Given the description of an element on the screen output the (x, y) to click on. 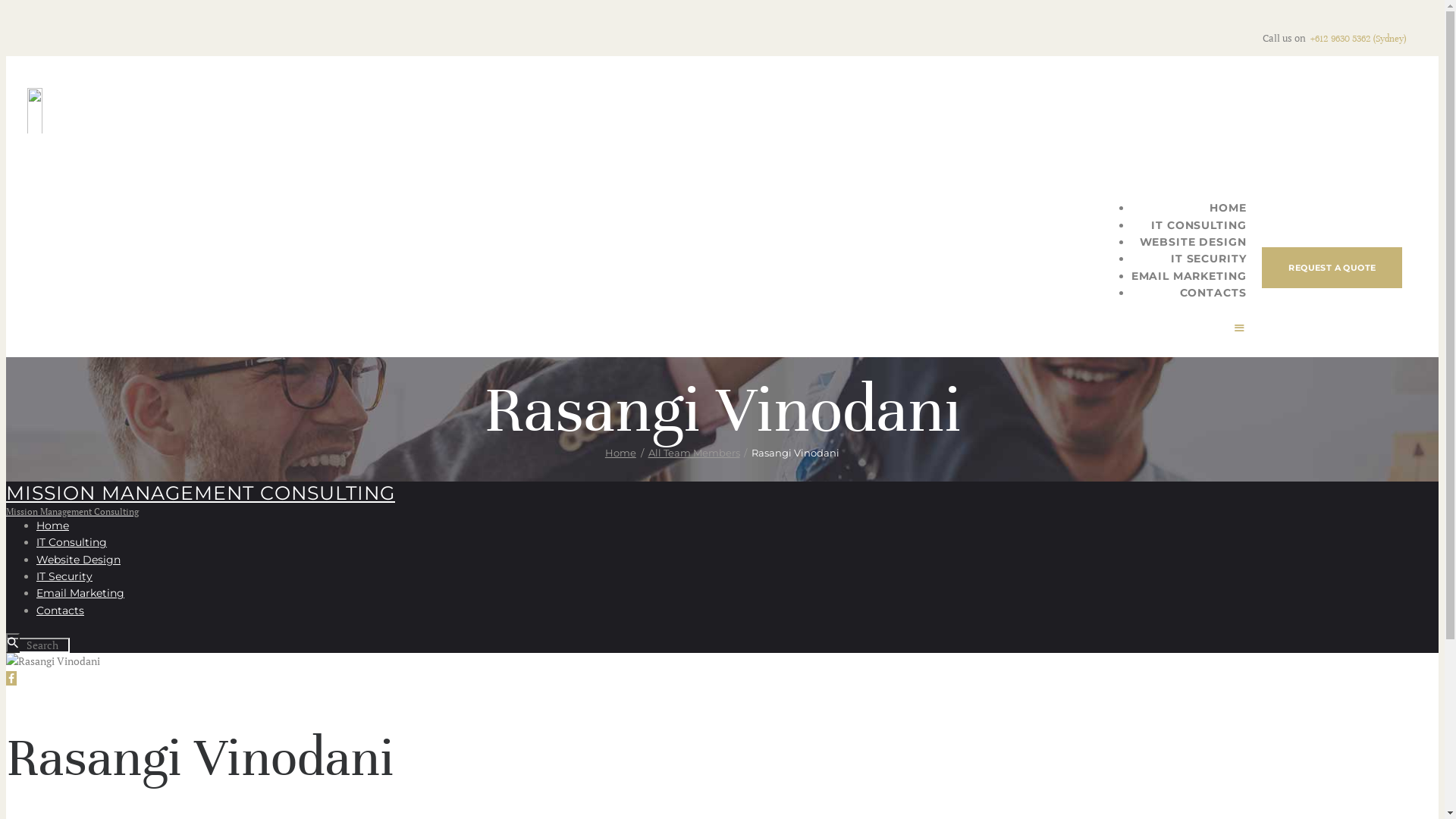
Home Element type: text (620, 452)
IT SECURITY Element type: text (1207, 258)
Website Design Element type: text (78, 559)
EMAIL MARKETING Element type: text (1188, 275)
IT Consulting Element type: text (71, 542)
IT Security Element type: text (64, 576)
WEBSITE DESIGN Element type: text (1192, 241)
Home Element type: text (52, 525)
MISSION MANAGEMENT CONSULTING
Mission Management Consulting Element type: text (722, 499)
HOME Element type: text (1227, 207)
Email Marketing Element type: text (80, 592)
All Team Members Element type: text (693, 452)
REQUEST A QUOTE Element type: text (1331, 267)
Contacts Element type: text (60, 610)
CONTACTS Element type: text (1212, 292)
IT CONSULTING Element type: text (1198, 225)
